Given the description of an element on the screen output the (x, y) to click on. 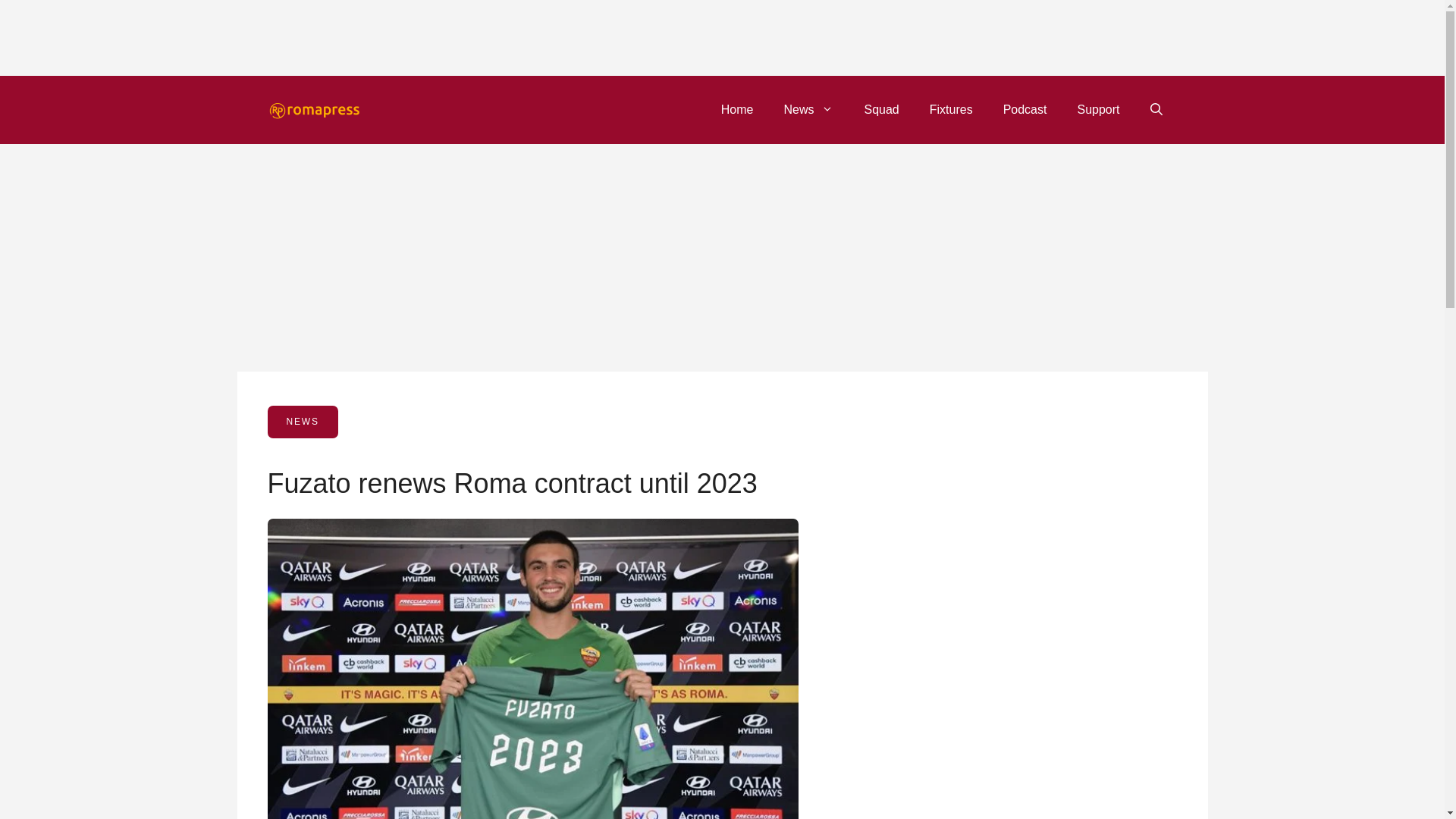
Fixtures (951, 109)
Support (1097, 109)
Squad (881, 109)
Home (737, 109)
News (808, 109)
Podcast (1025, 109)
